Given the description of an element on the screen output the (x, y) to click on. 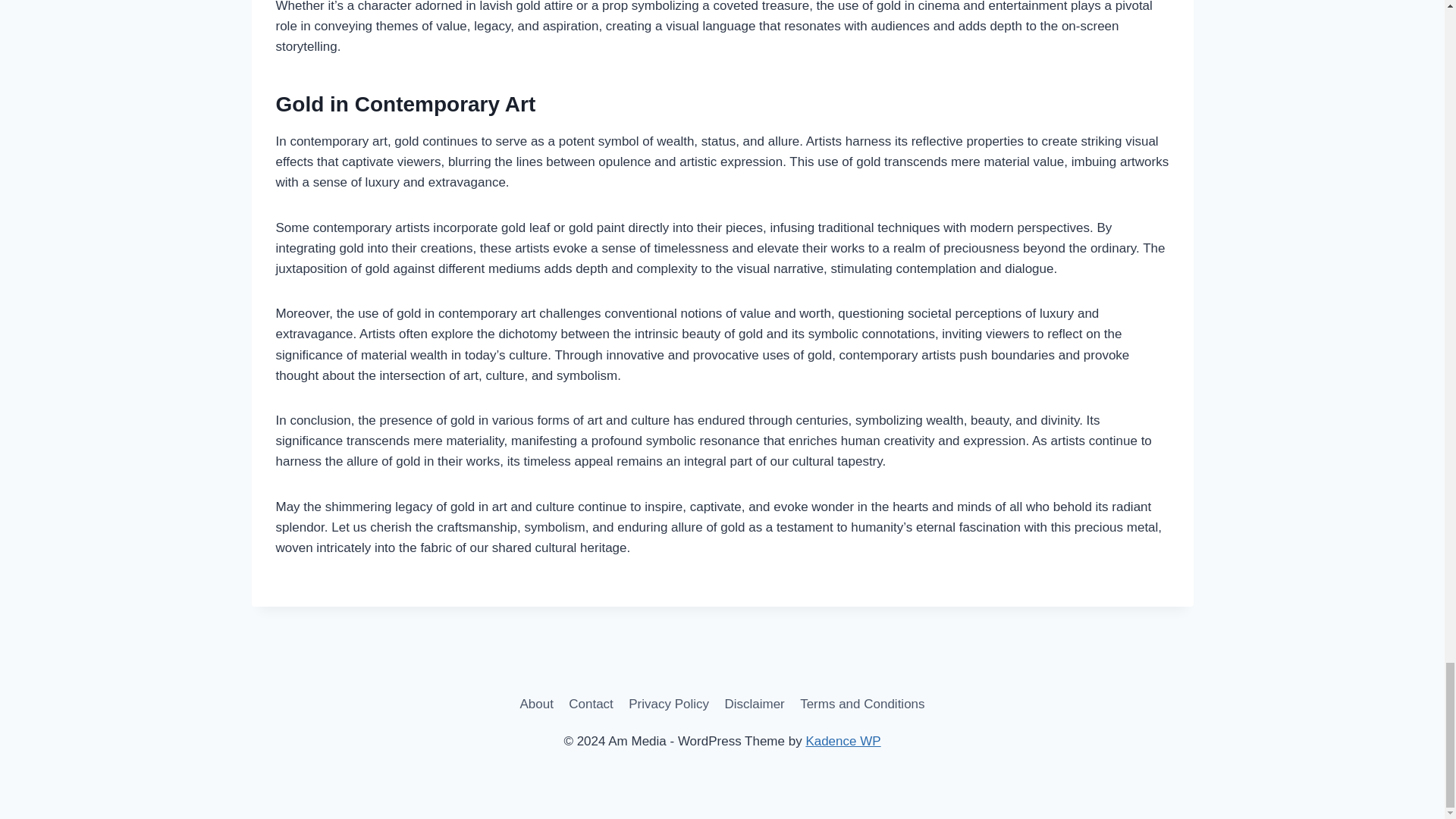
Contact (590, 704)
Kadence WP (842, 740)
Terms and Conditions (862, 704)
About (536, 704)
Disclaimer (754, 704)
Privacy Policy (668, 704)
